Given the description of an element on the screen output the (x, y) to click on. 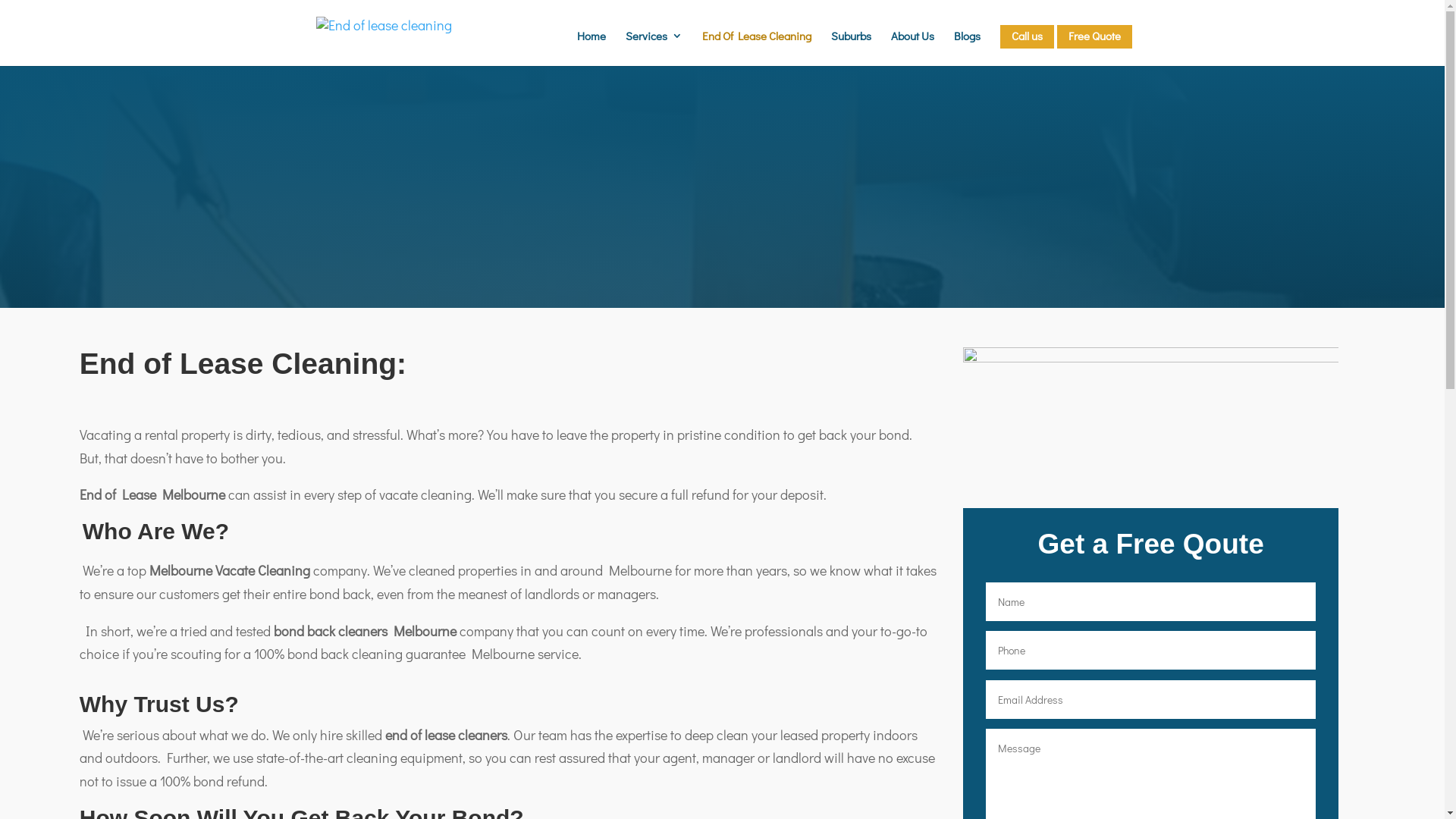
Suburbs Element type: text (851, 47)
About Us Element type: text (911, 47)
Home Element type: text (590, 47)
Free Quote Element type: text (1094, 36)
Blogs Element type: text (966, 47)
End Of Lease Cleaning Element type: text (756, 47)
Services Element type: text (652, 47)
Call us Element type: text (1026, 36)
